Given the description of an element on the screen output the (x, y) to click on. 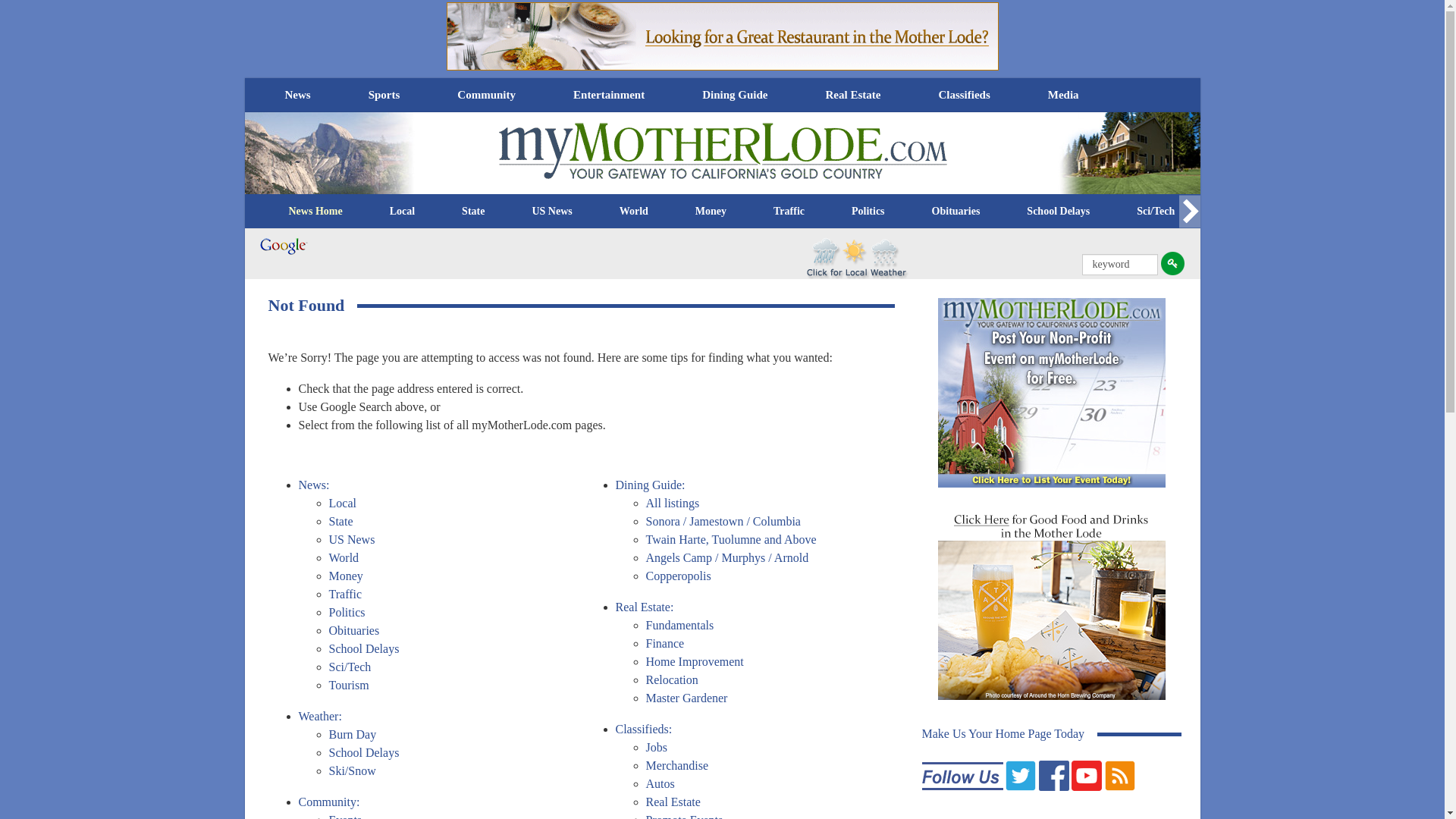
keyword (1119, 264)
School Delays (1057, 210)
News (297, 94)
Classifieds (963, 94)
Real Estate (852, 94)
Media (1063, 94)
Obituaries (956, 210)
Tourism (1240, 210)
Politics (868, 210)
